Given the description of an element on the screen output the (x, y) to click on. 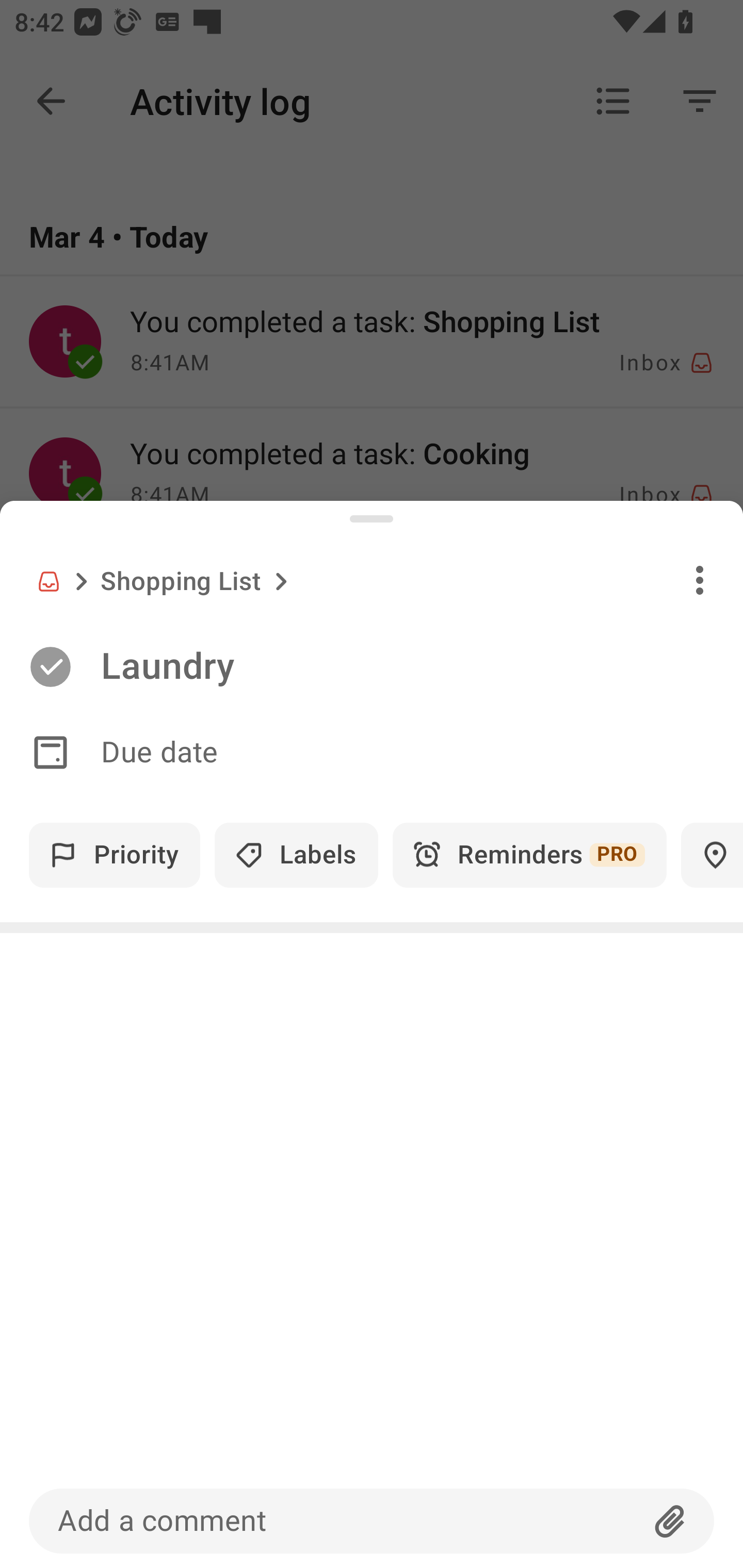
Overflow menu (699, 580)
Complete (50, 667)
Laundry (422, 666)
Date Due date (371, 752)
Priority (113, 855)
Labels (296, 855)
Reminders PRO (529, 855)
Locations PRO (712, 855)
Add a comment Attachment (371, 1520)
Attachment (670, 1520)
